Given the description of an element on the screen output the (x, y) to click on. 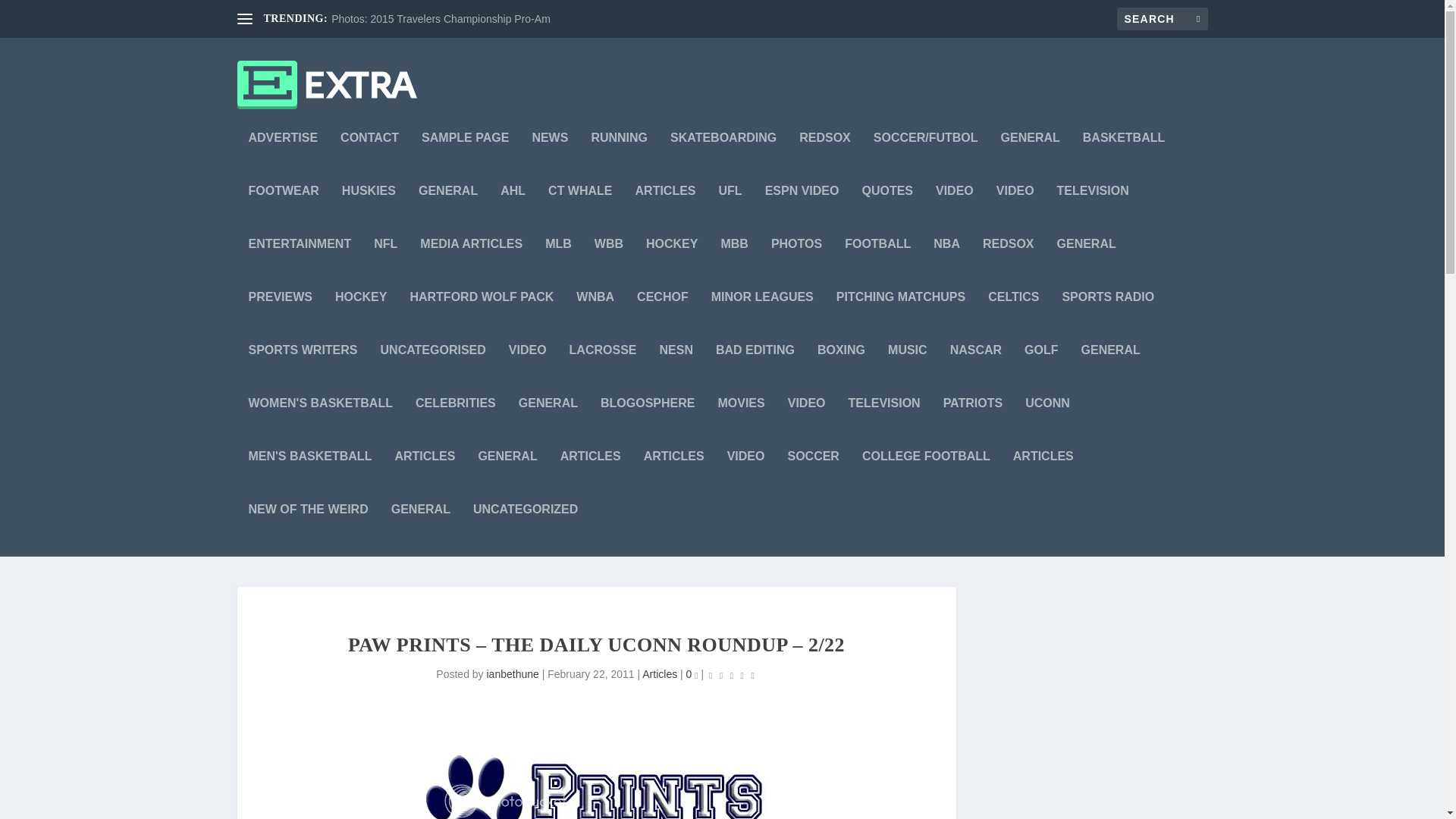
GENERAL (448, 211)
SAMPLE PAGE (465, 158)
GENERAL (1030, 158)
CONTACT (369, 158)
QUOTES (886, 211)
ENTERTAINMENT (300, 264)
HUSKIES (369, 211)
Rating: 0.00 (731, 674)
FOOTWEAR (283, 211)
Posts by ianbethune (512, 674)
